Given the description of an element on the screen output the (x, y) to click on. 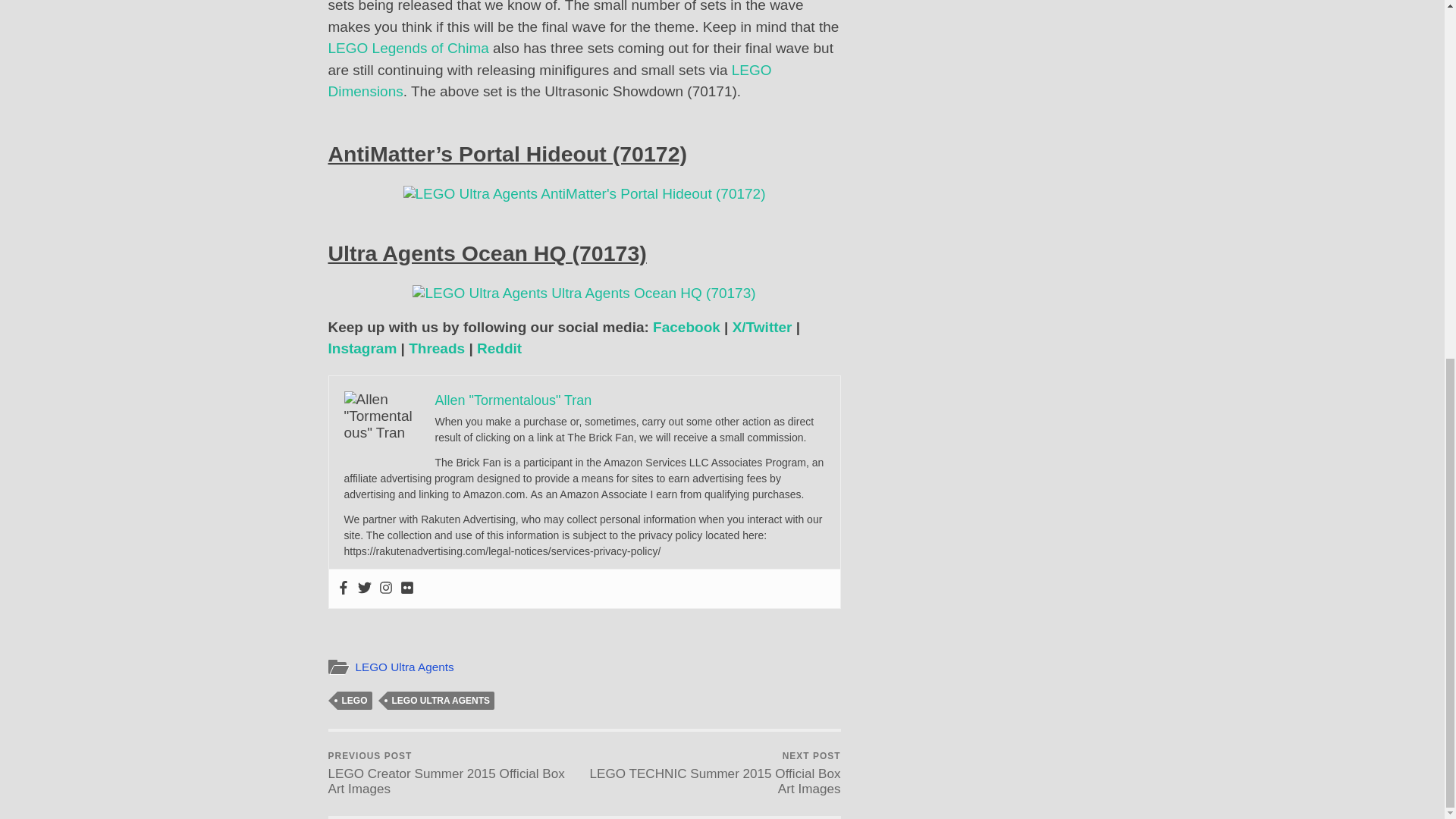
LEGO Dimensions (549, 80)
Instagram (361, 348)
Threads (436, 348)
Facebook (686, 326)
Allen "Tormentalous" Tran (513, 400)
LEGO Legends of Chima (407, 48)
Reddit (499, 348)
